Given the description of an element on the screen output the (x, y) to click on. 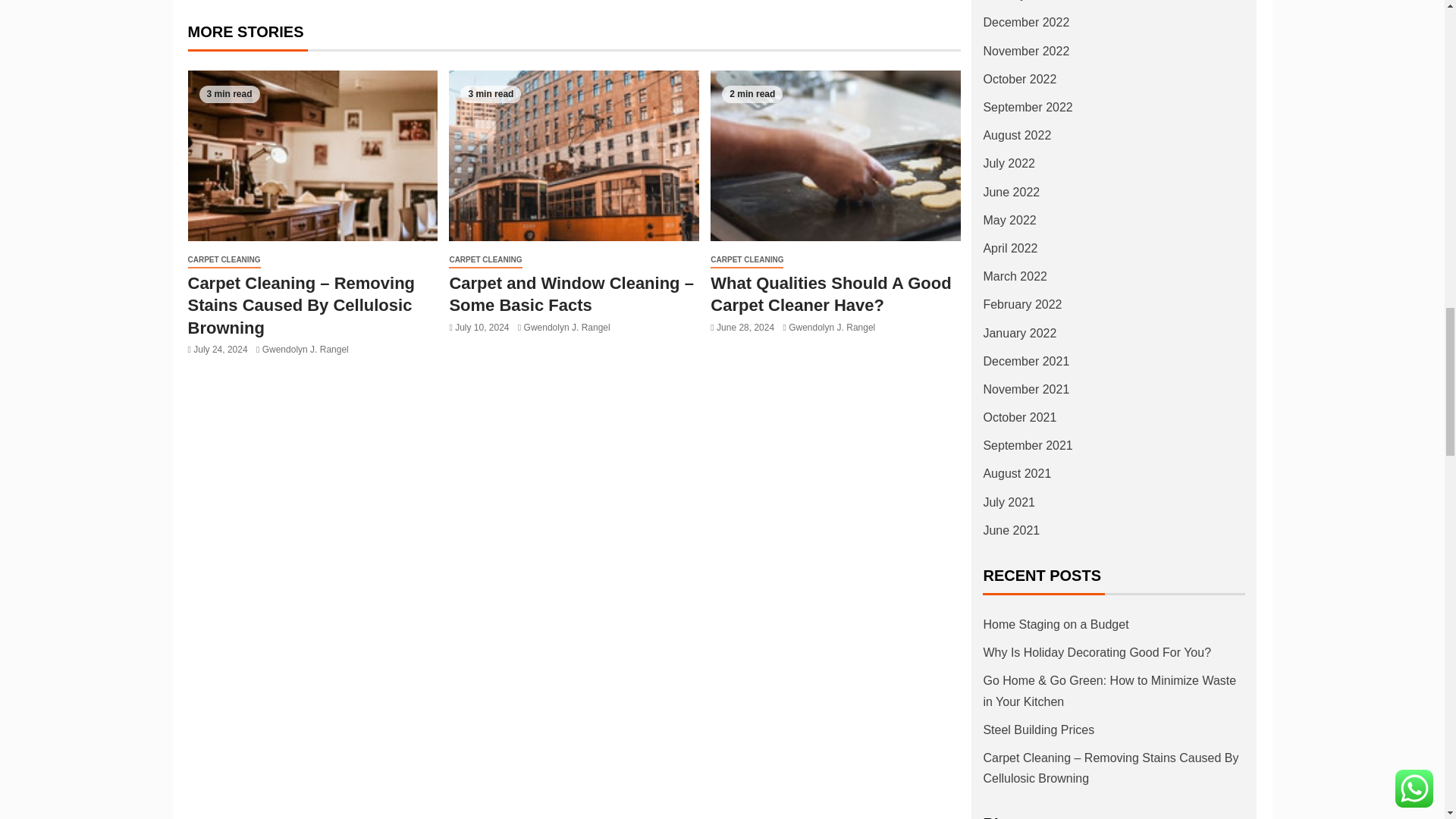
What Qualities Should A Good Carpet Cleaner Have? (835, 155)
